Given the description of an element on the screen output the (x, y) to click on. 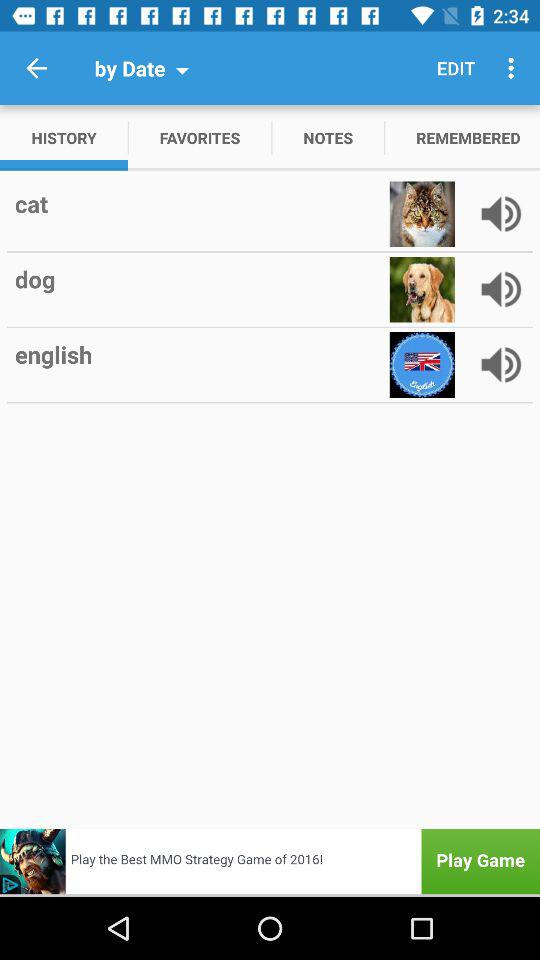
play sound (501, 213)
